Given the description of an element on the screen output the (x, y) to click on. 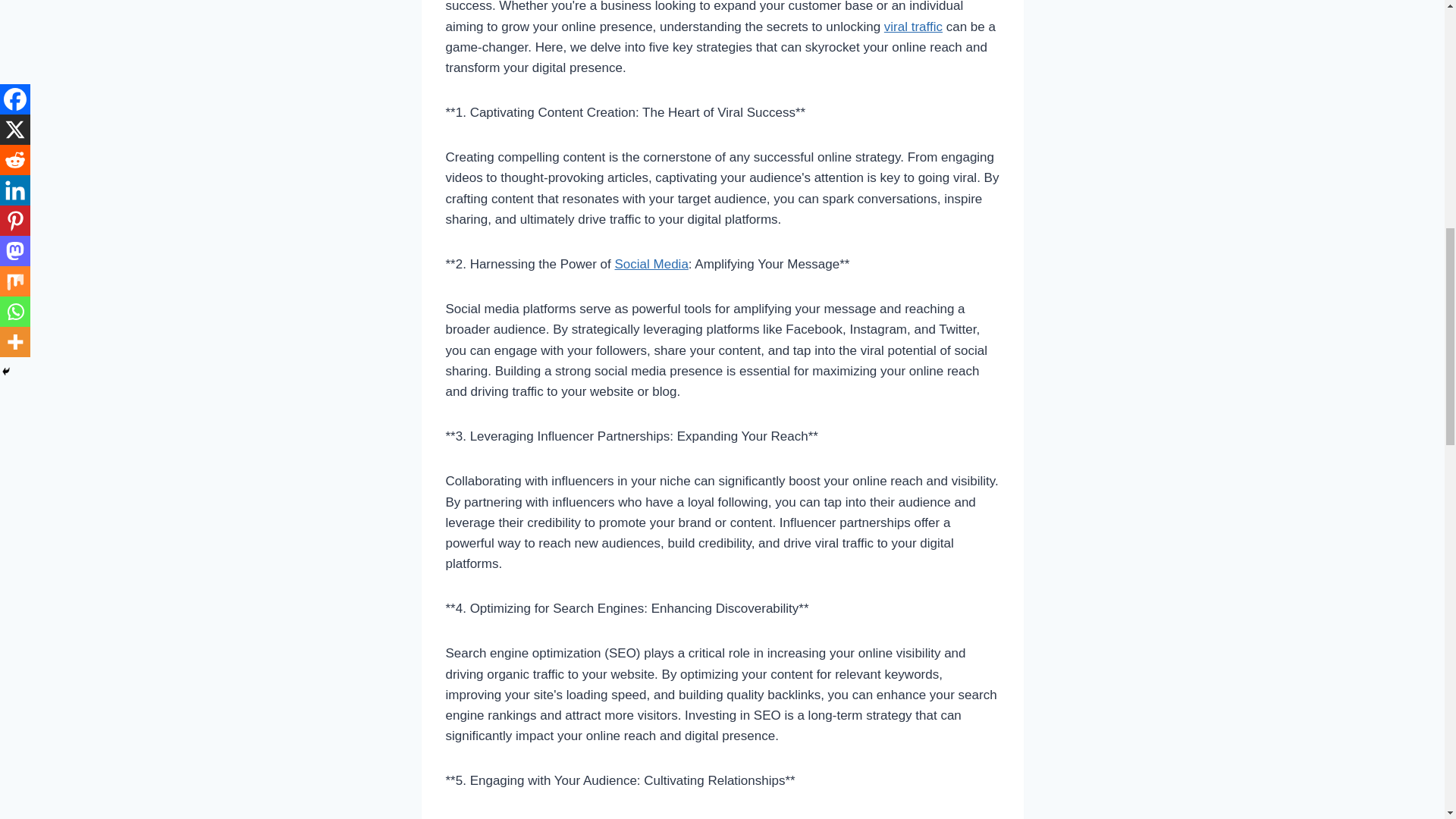
viral traffic (912, 26)
Viral Traffic Code (912, 26)
fbpaid (651, 264)
Social Media (651, 264)
